Given the description of an element on the screen output the (x, y) to click on. 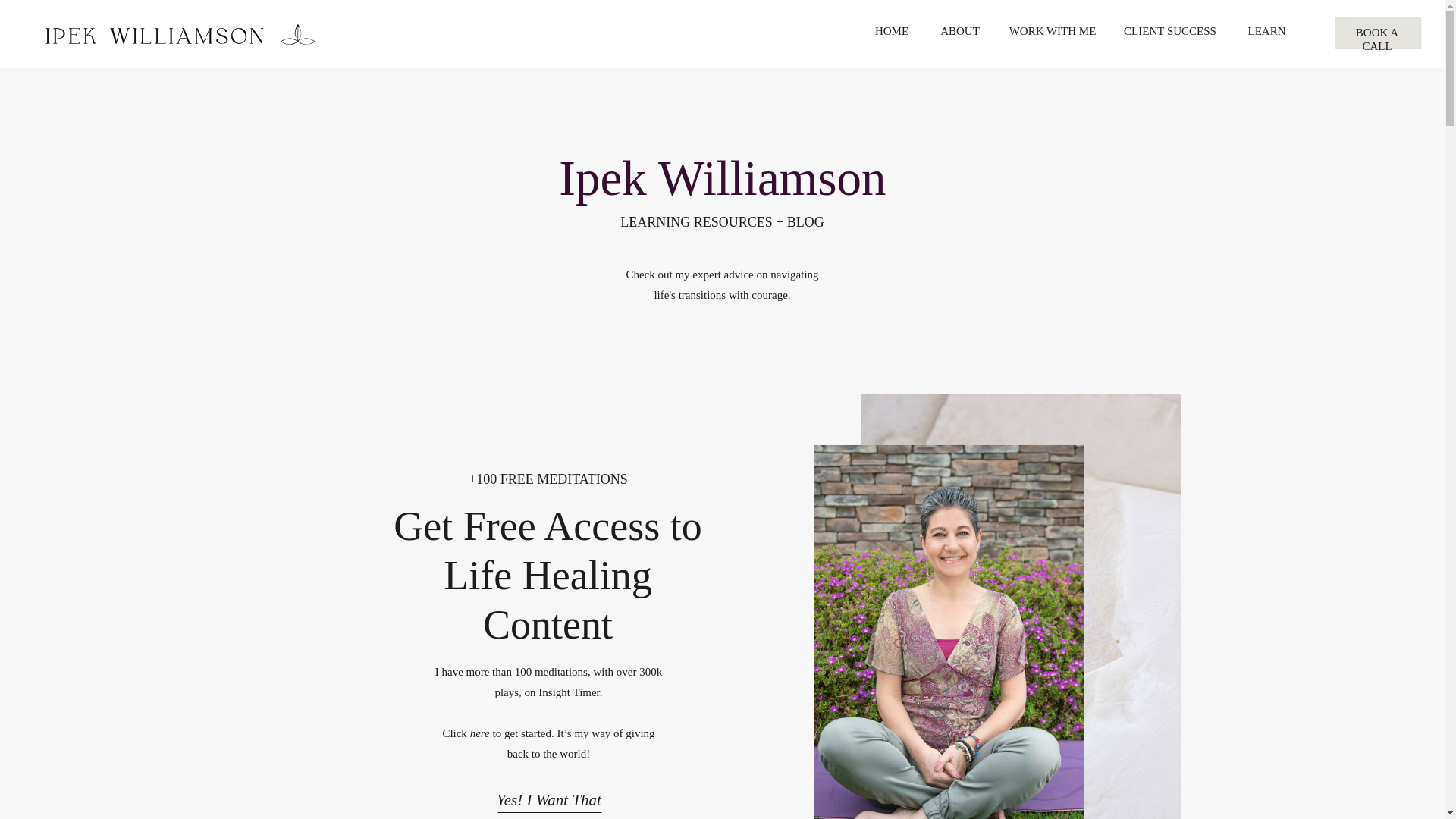
Yes! I Want That (548, 795)
LEARN (1266, 32)
Ipek Williamson (721, 175)
WORK WITH ME (1052, 32)
ABOUT (959, 32)
BOOK A CALL (1376, 34)
CLIENT SUCCESS (1169, 32)
HOME (891, 32)
